Given the description of an element on the screen output the (x, y) to click on. 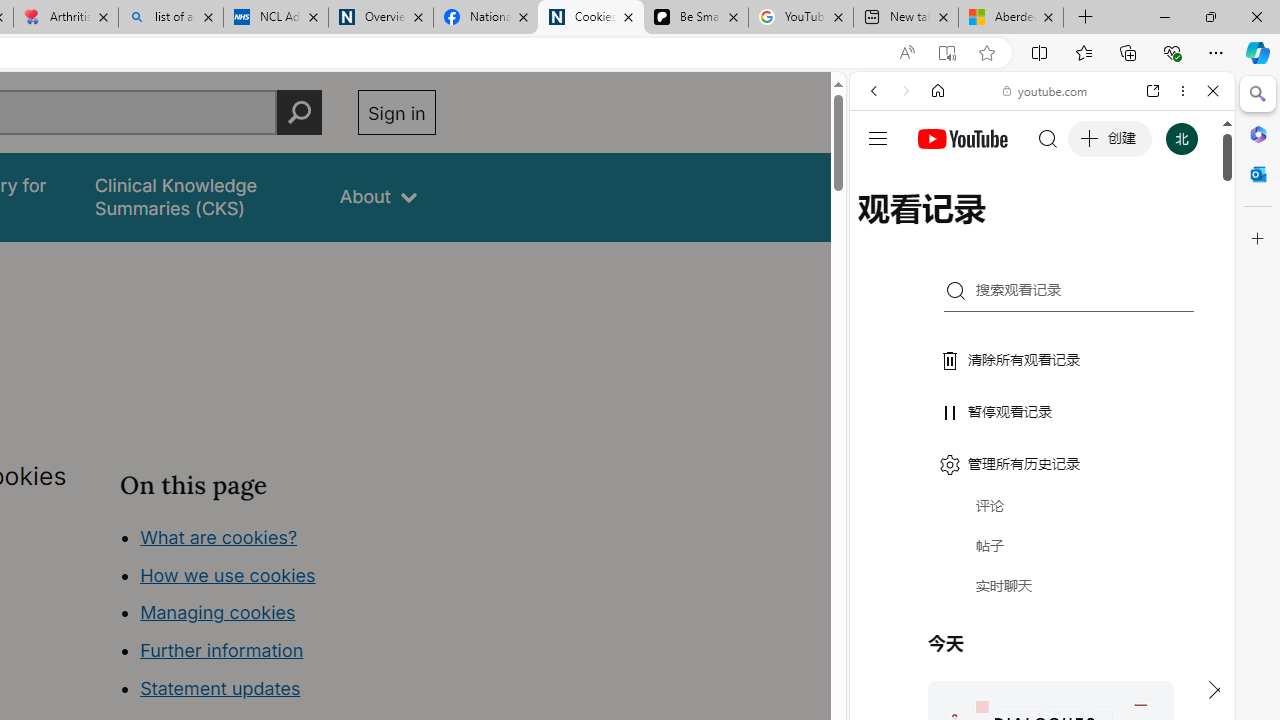
Search the web (1051, 137)
list of asthma inhalers uk - Search (170, 17)
Close Customize pane (1258, 239)
#you (1042, 445)
About (378, 196)
SEARCH TOOLS (1093, 228)
NCL Adult Asthma Inhaler Choice Guideline (275, 17)
